Given the description of an element on the screen output the (x, y) to click on. 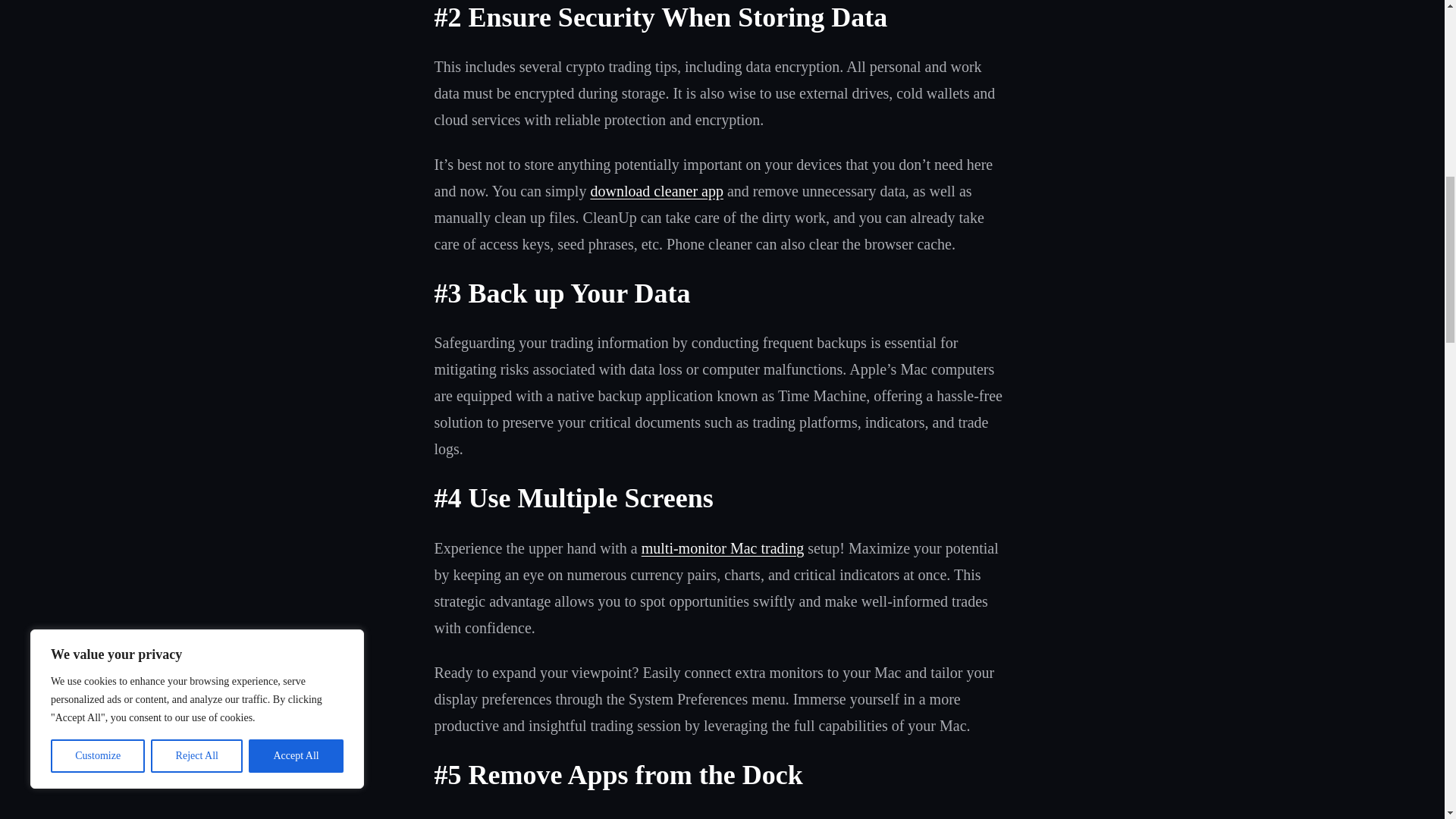
download cleaner app (655, 190)
multi-monitor Mac trading (722, 547)
